Given the description of an element on the screen output the (x, y) to click on. 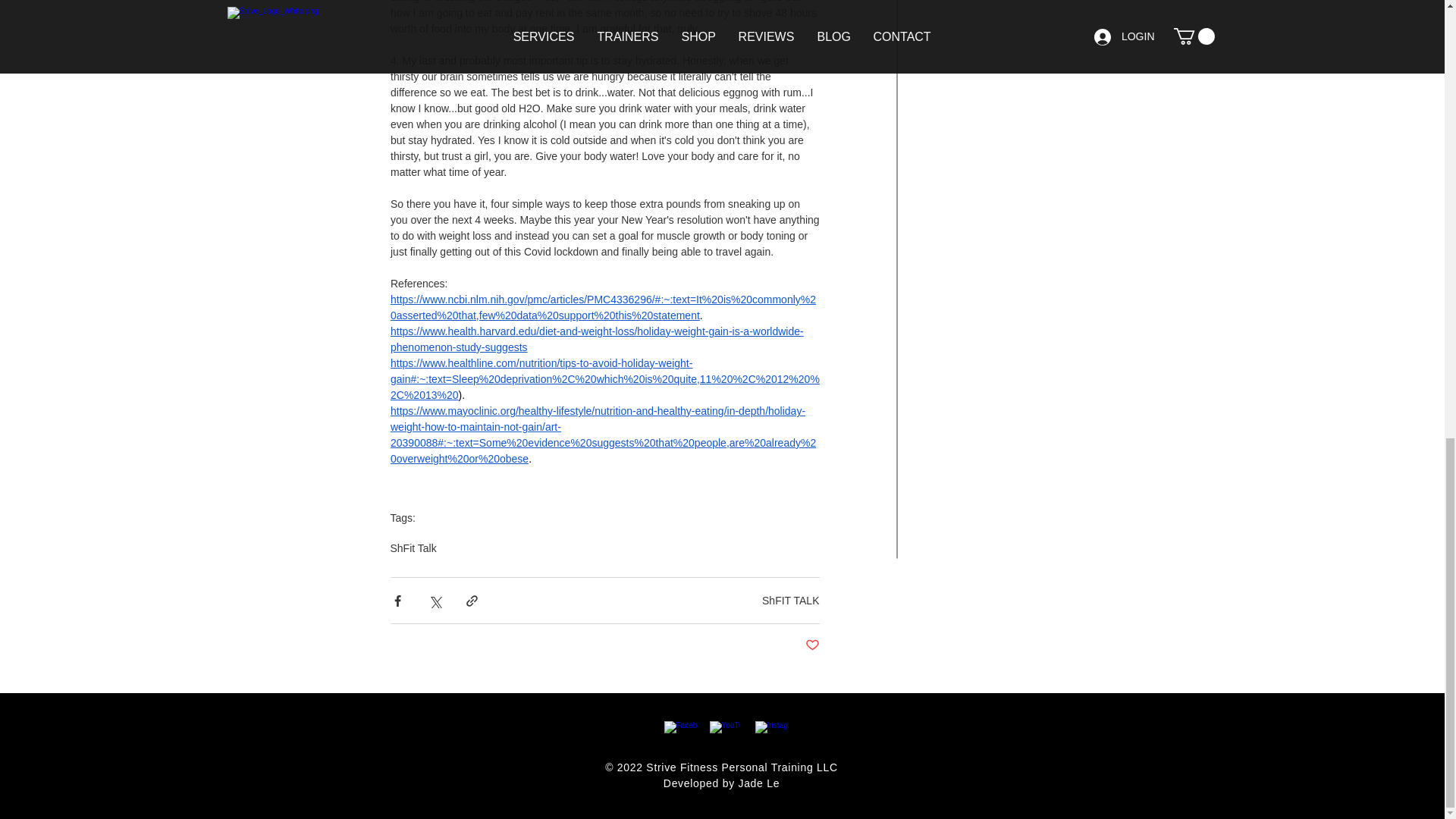
Post not marked as liked (812, 645)
ShFIT TALK (789, 600)
ShFit Talk (412, 548)
